Given the description of an element on the screen output the (x, y) to click on. 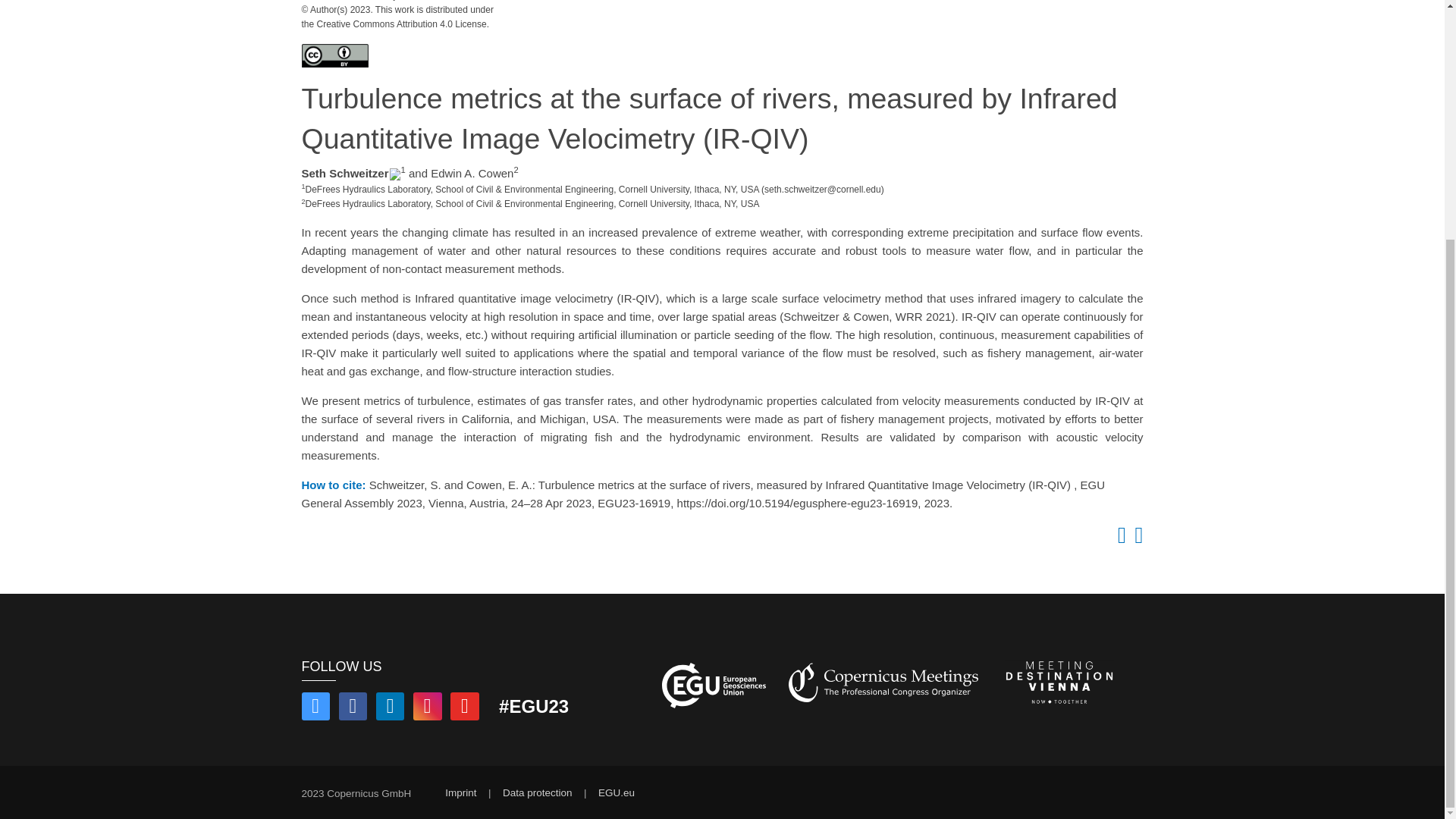
Copy to clipboard (1118, 538)
Open QR code linking to abstract URL (1135, 538)
Find us on YouTube (464, 707)
Follow us on Facebook (353, 707)
Find us on Instagram (427, 707)
Find us on LinkedIn (389, 707)
Follow us on Twitter (315, 707)
